Given the description of an element on the screen output the (x, y) to click on. 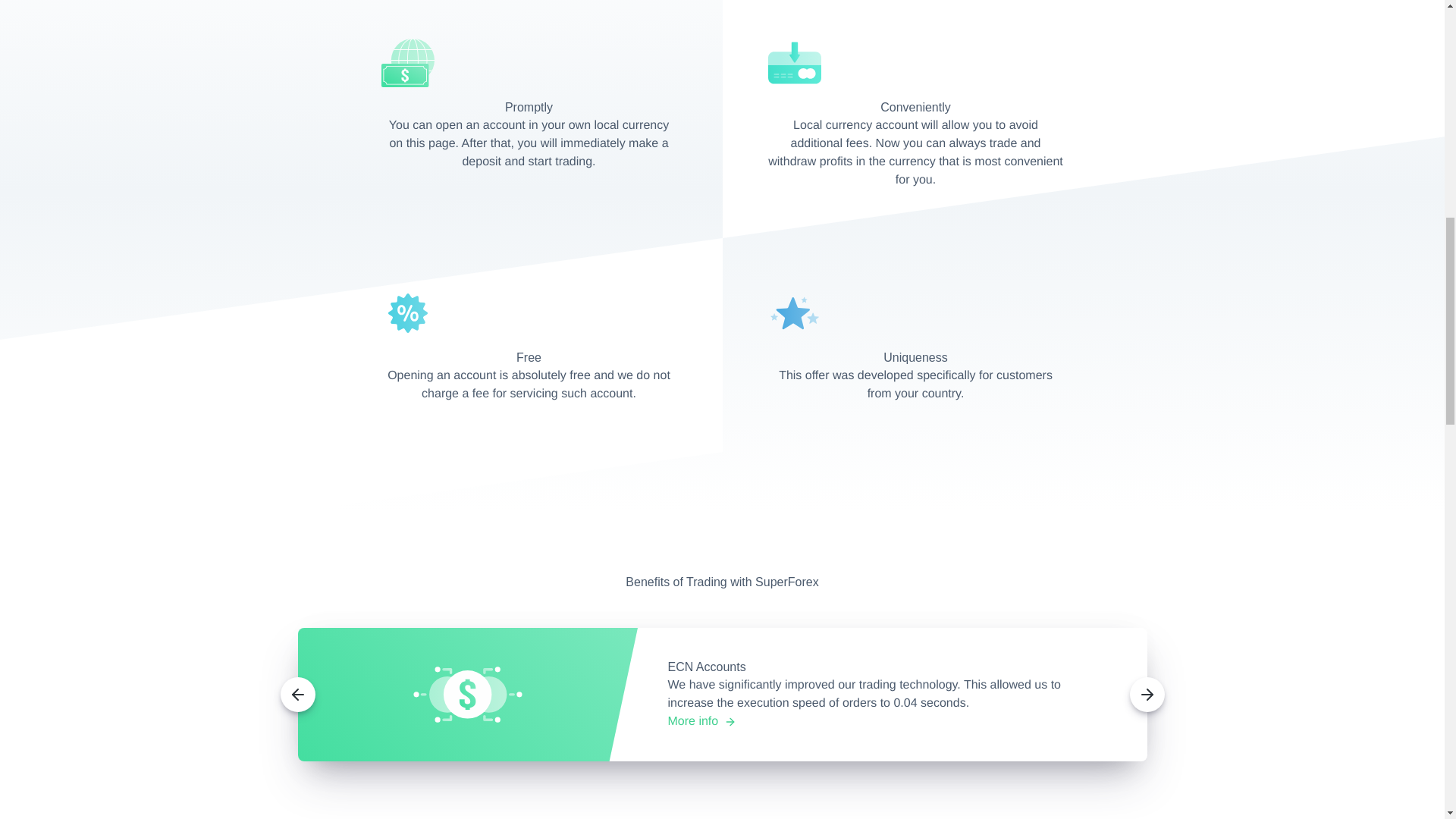
More info (701, 721)
